Given the description of an element on the screen output the (x, y) to click on. 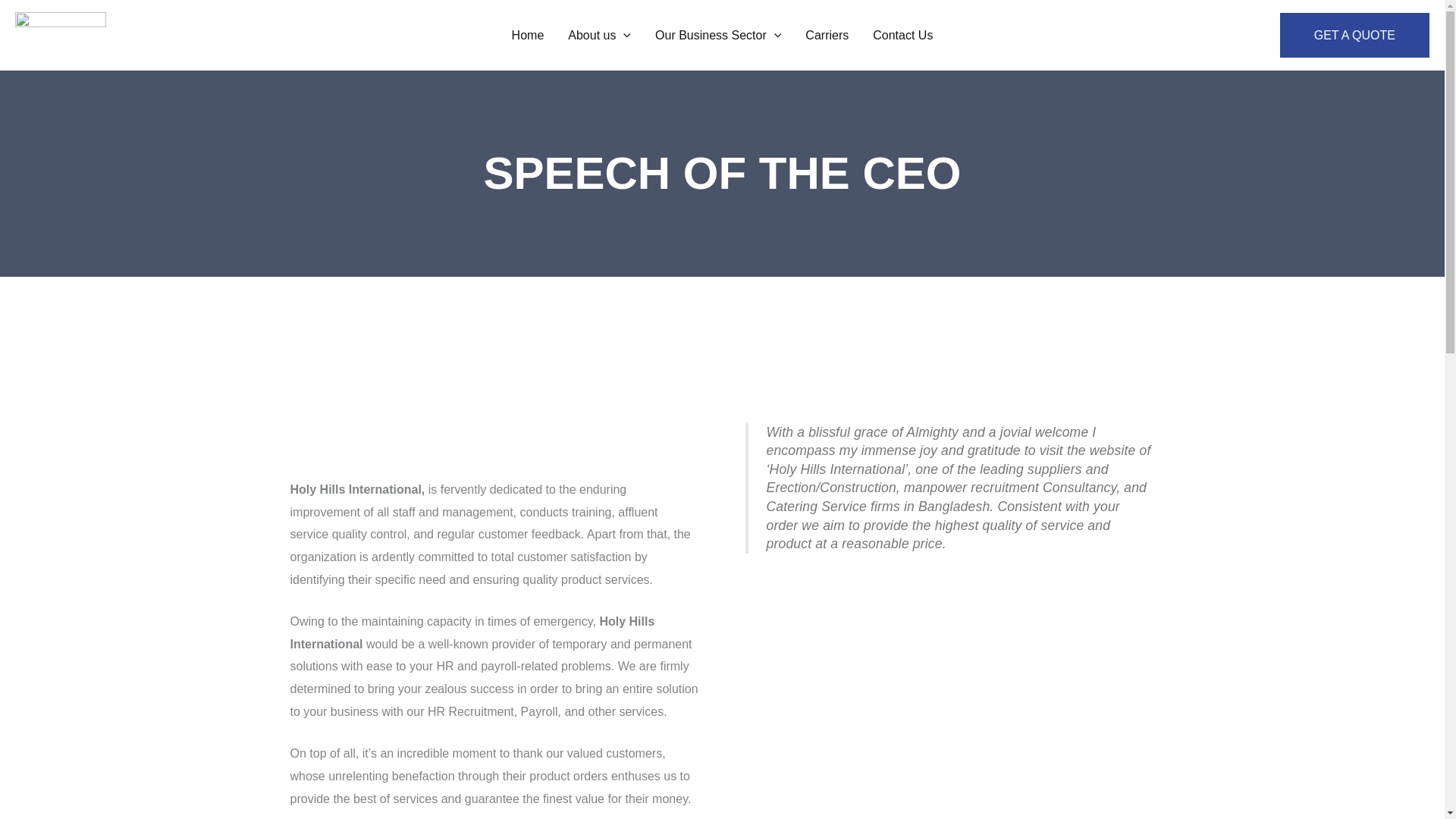
Our Business Sector (718, 35)
Home (527, 35)
GET A QUOTE (1354, 35)
Carriers (826, 35)
About us (599, 35)
Contact Us (902, 35)
